Given the description of an element on the screen output the (x, y) to click on. 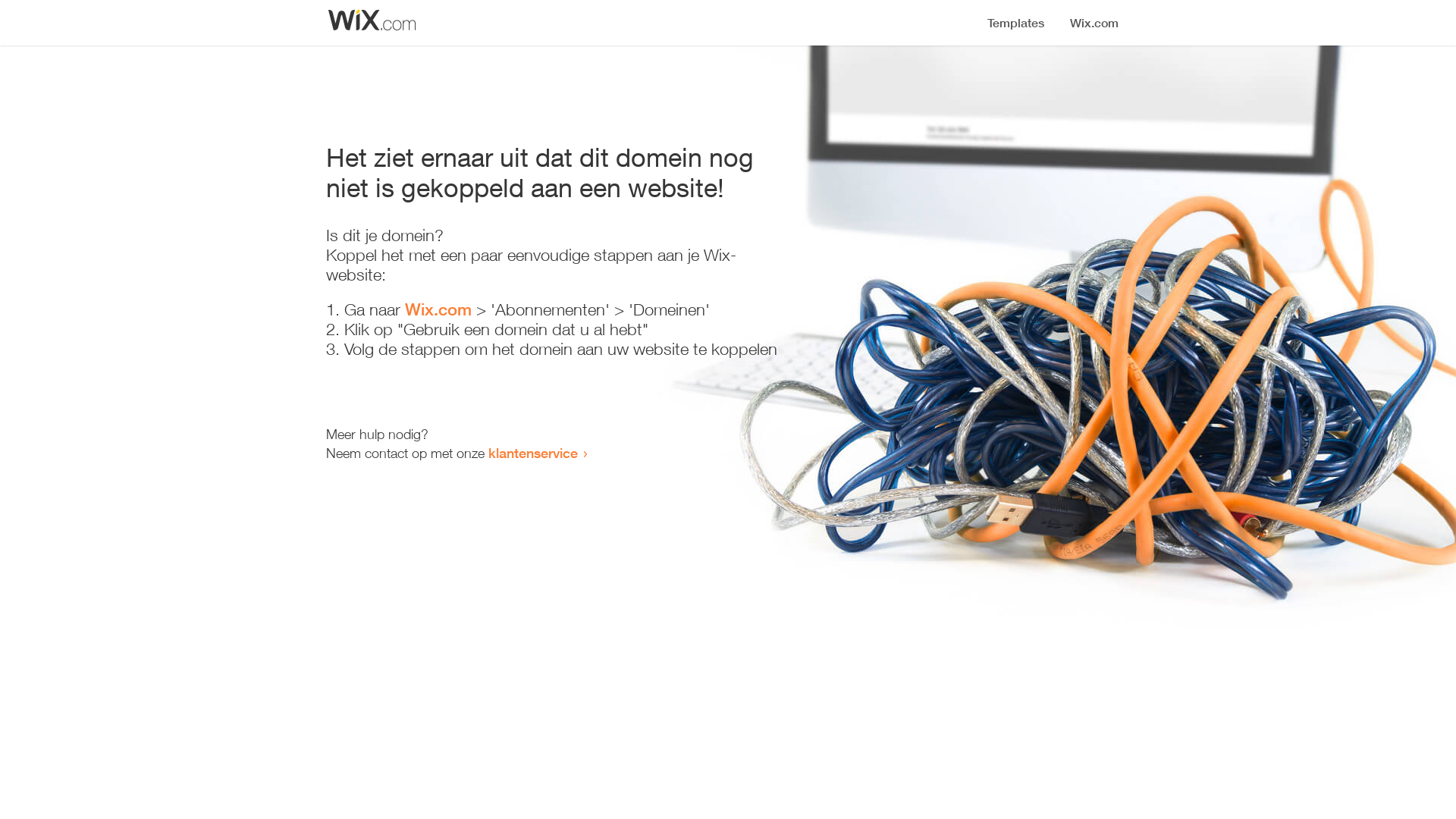
klantenservice Element type: text (532, 452)
Wix.com Element type: text (437, 309)
